Given the description of an element on the screen output the (x, y) to click on. 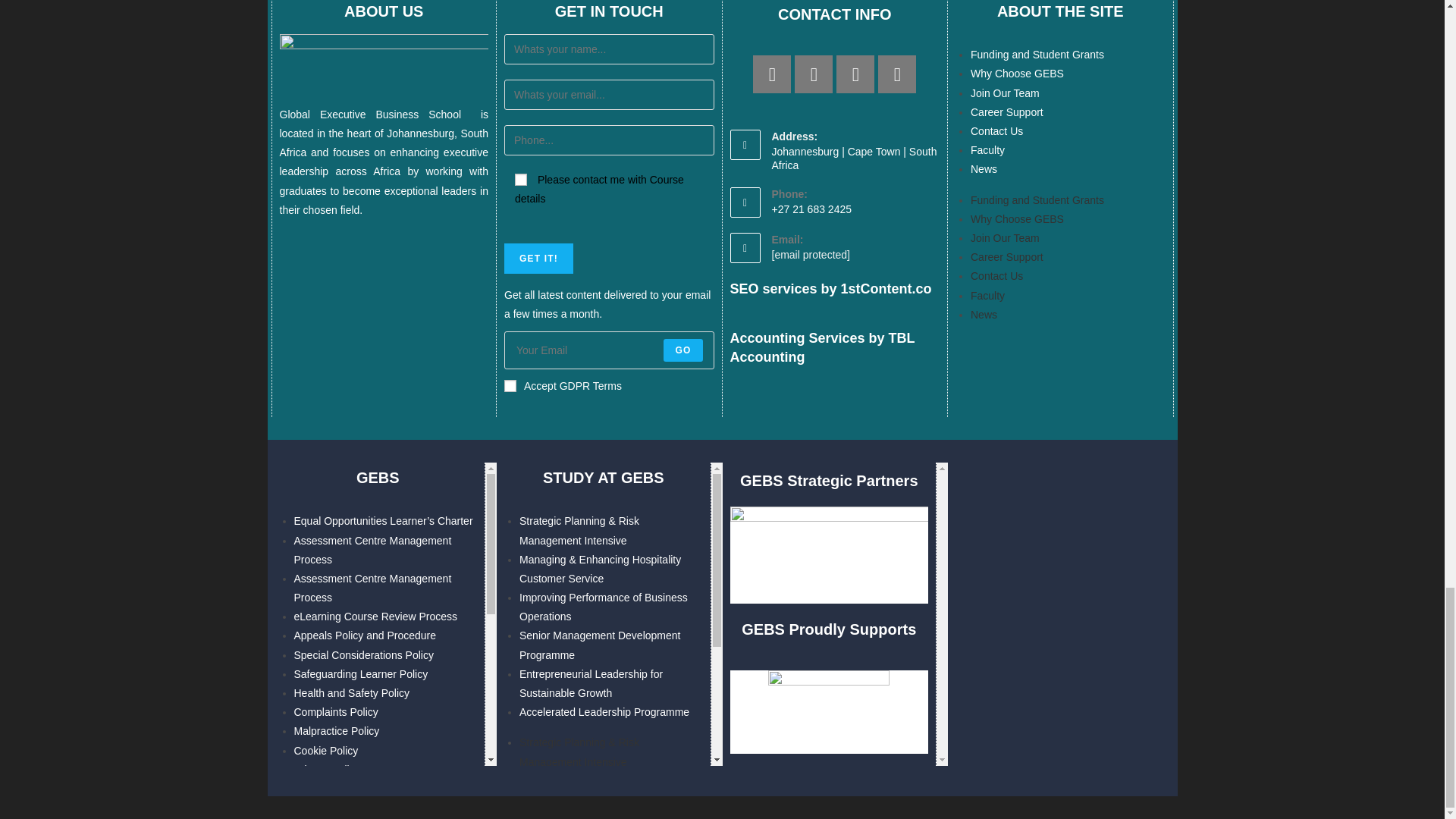
1 (509, 386)
Please contact me with Course details (521, 179)
